Given the description of an element on the screen output the (x, y) to click on. 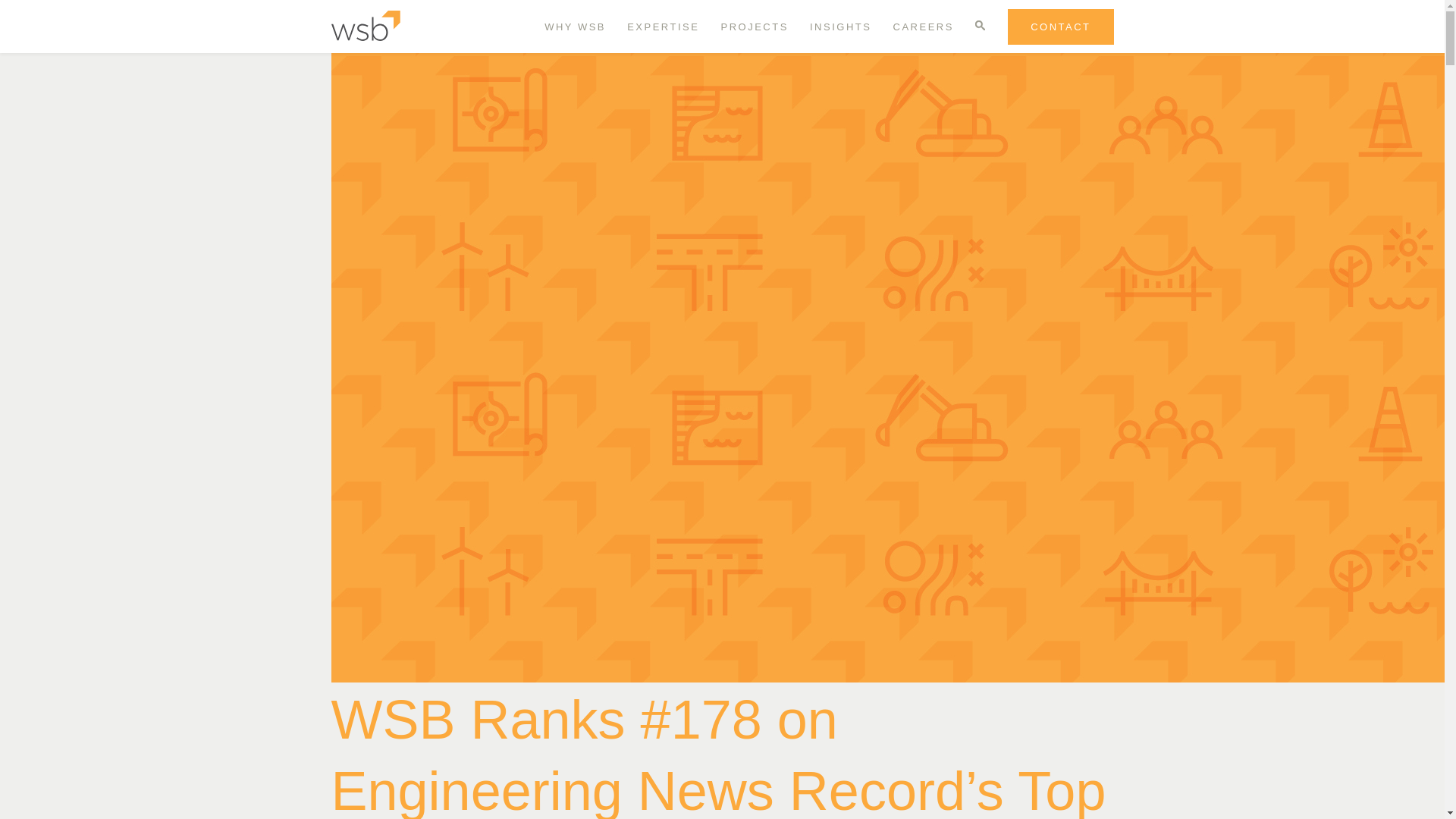
PROJECTS (754, 26)
INSIGHTS (839, 26)
CAREERS (923, 26)
WHY WSB (574, 26)
EXPERTISE (662, 26)
CONTACT (1060, 27)
